Given the description of an element on the screen output the (x, y) to click on. 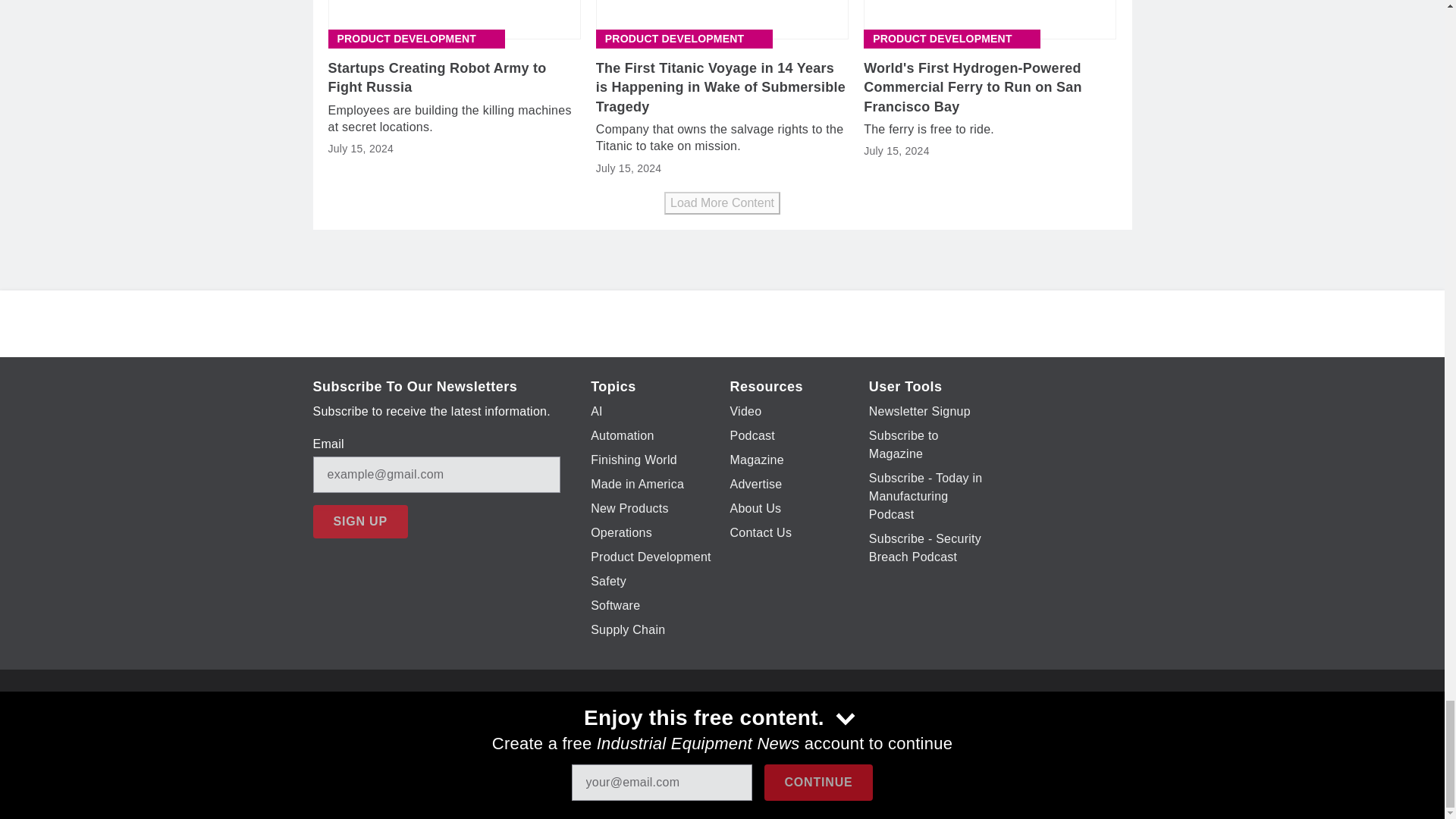
Instagram icon (735, 727)
Facebook icon (617, 727)
YouTube icon (696, 727)
Twitter X icon (656, 727)
LinkedIn icon (775, 727)
